Given the description of an element on the screen output the (x, y) to click on. 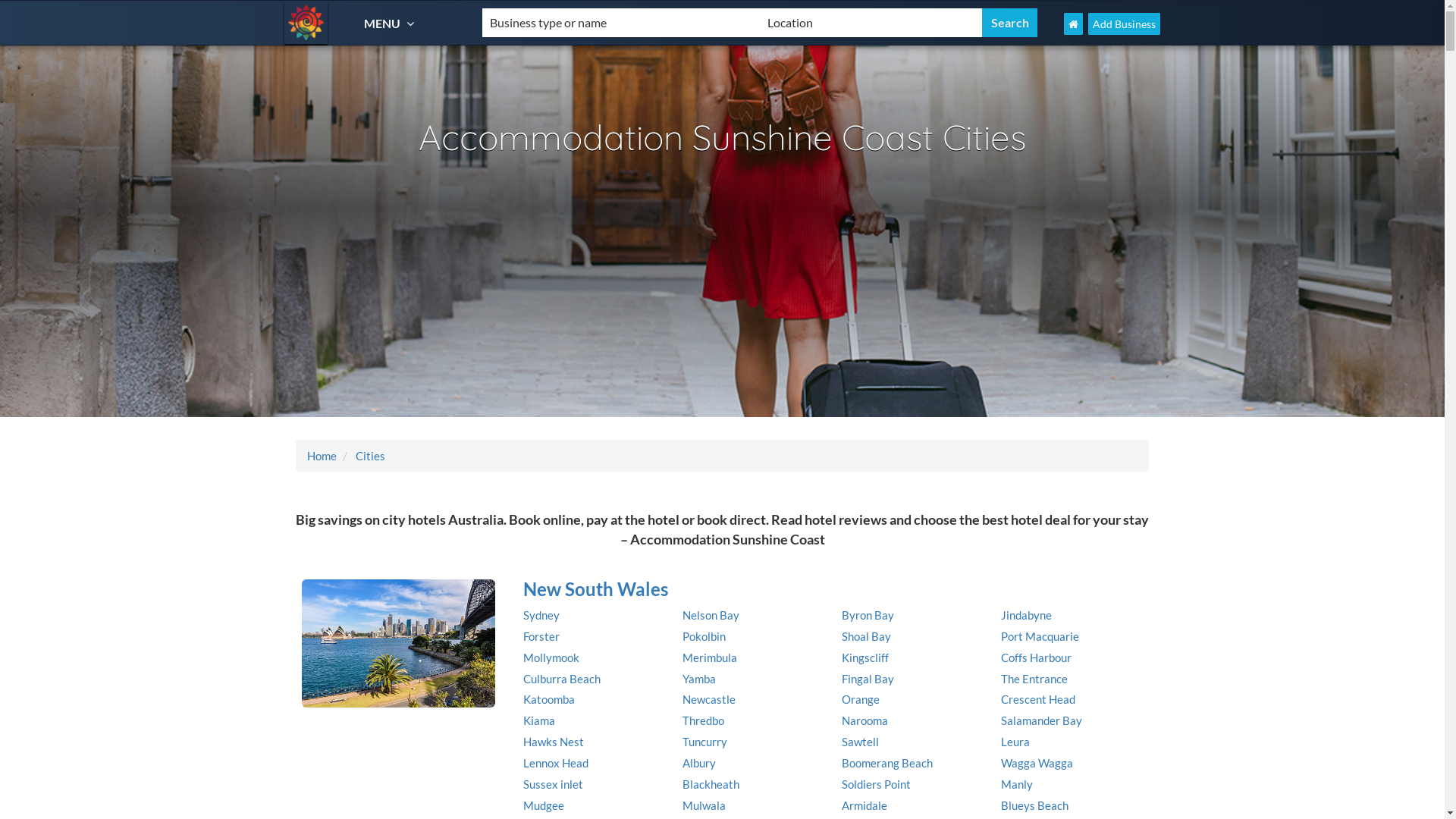
Lennox Head Element type: text (555, 762)
Jindabyne Element type: text (1026, 614)
Coffs Harbour Element type: text (1036, 657)
Forster Element type: text (541, 636)
Tuncurry Element type: text (704, 741)
New South Wales Element type: text (830, 589)
Accommodation Sunshine Coast Element type: hover (305, 21)
Cities Element type: text (369, 455)
Soldiers Point Element type: text (875, 783)
Mudgee Element type: text (543, 805)
Thredbo Element type: text (703, 720)
Nelson Bay Element type: text (710, 614)
Merimbula Element type: text (709, 657)
Search Element type: text (1009, 22)
Blackheath Element type: text (710, 783)
Fingal Bay Element type: text (867, 678)
Yamba Element type: text (698, 678)
Katoomba Element type: text (548, 699)
Crescent Head Element type: text (1038, 699)
Byron Bay Element type: text (867, 614)
Shoal Bay Element type: text (866, 636)
Wagga Wagga Element type: text (1037, 762)
Mulwala Element type: text (703, 805)
Pokolbin Element type: text (703, 636)
The Entrance Element type: text (1034, 678)
Boomerang Beach Element type: text (886, 762)
Sawtell Element type: text (859, 741)
Armidale Element type: text (864, 805)
Albury Element type: text (698, 762)
Leura Element type: text (1015, 741)
Blueys Beach Element type: text (1034, 805)
Manly Element type: text (1016, 783)
New South Wales Cities Element type: hover (398, 643)
Kingscliff Element type: text (864, 657)
Port Macquarie Element type: text (1040, 636)
MENU Element type: text (390, 22)
Narooma Element type: text (864, 720)
Sussex inlet Element type: text (553, 783)
Mollymook Element type: text (551, 657)
Salamander Bay Element type: text (1041, 720)
Home Element type: text (321, 455)
Newcastle Element type: text (708, 699)
Orange Element type: text (860, 699)
Kiama Element type: text (539, 720)
Sydney Element type: text (541, 614)
Hawks Nest Element type: text (553, 741)
Accommodation Sunshine Coast Home Page Element type: hover (1072, 23)
Culburra Beach Element type: text (561, 678)
Add Business Element type: text (1124, 23)
